Given the description of an element on the screen output the (x, y) to click on. 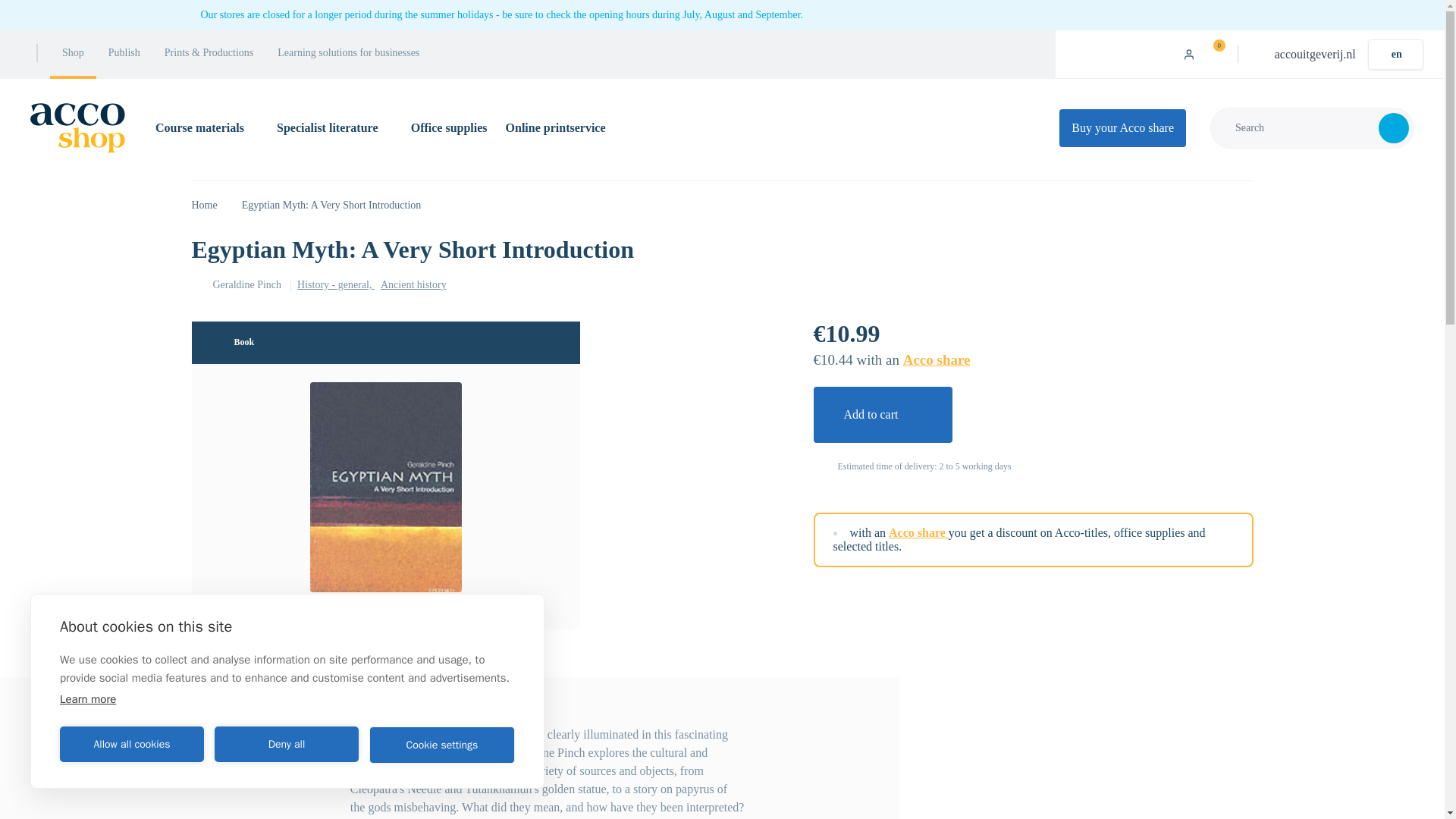
Learning solutions for businesses (347, 54)
Egyptian Myth: A Very Short Introduction - 9780192803467 (384, 487)
accouitgeverij.nl (1315, 53)
Shop (72, 54)
Publish (124, 54)
